Given the description of an element on the screen output the (x, y) to click on. 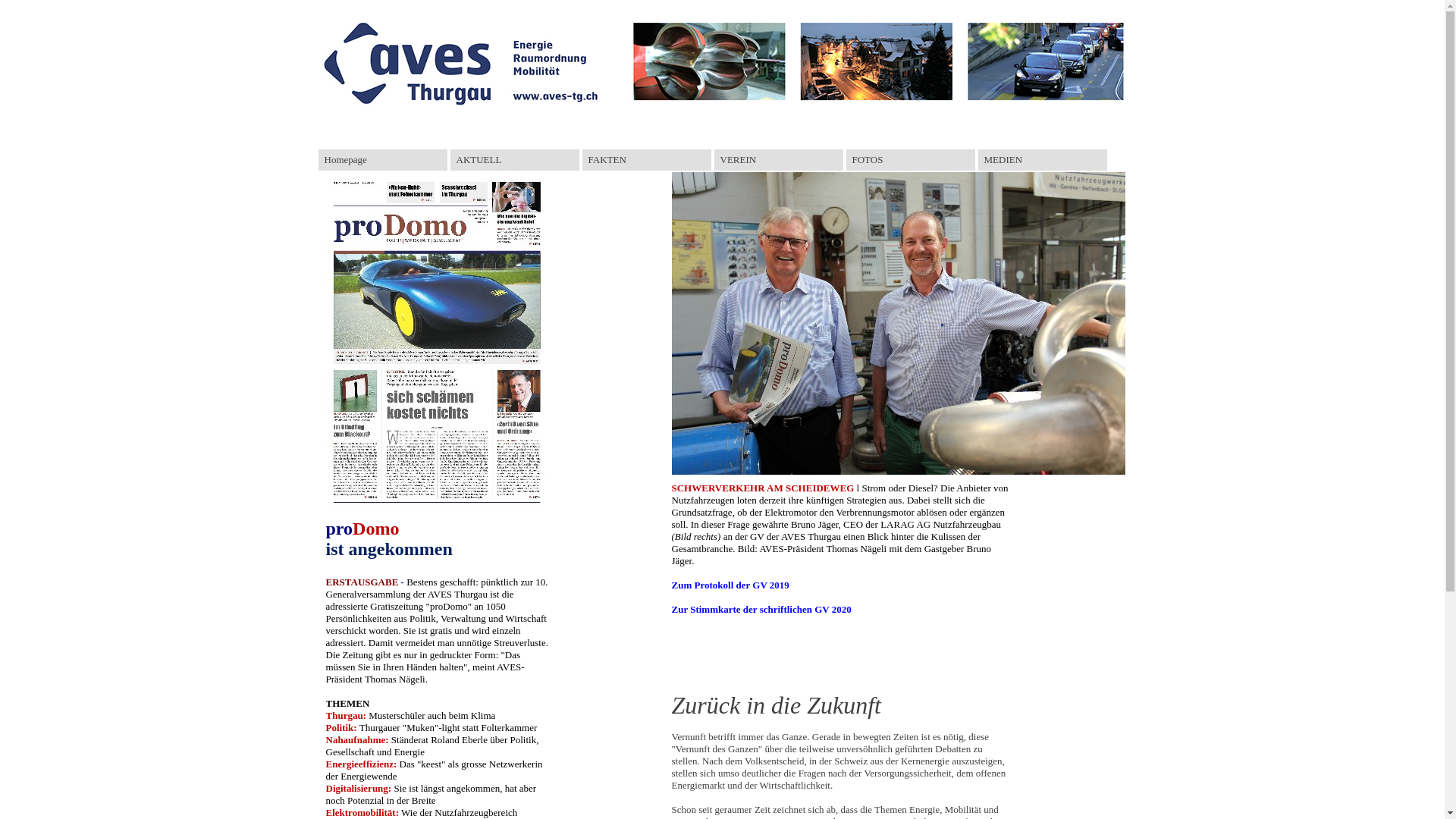
MEDIEN Element type: text (1042, 159)
Zum Protokoll der GV 2019 Element type: text (730, 584)
AKTUELL Element type: text (514, 159)
VEREIN Element type: text (778, 159)
Homepage Element type: text (382, 159)
FOTOS Element type: text (910, 159)
FAKTEN Element type: text (646, 159)
Zur Stimmkarte der schriftlichen GV 2020 Element type: text (761, 609)
